Given the description of an element on the screen output the (x, y) to click on. 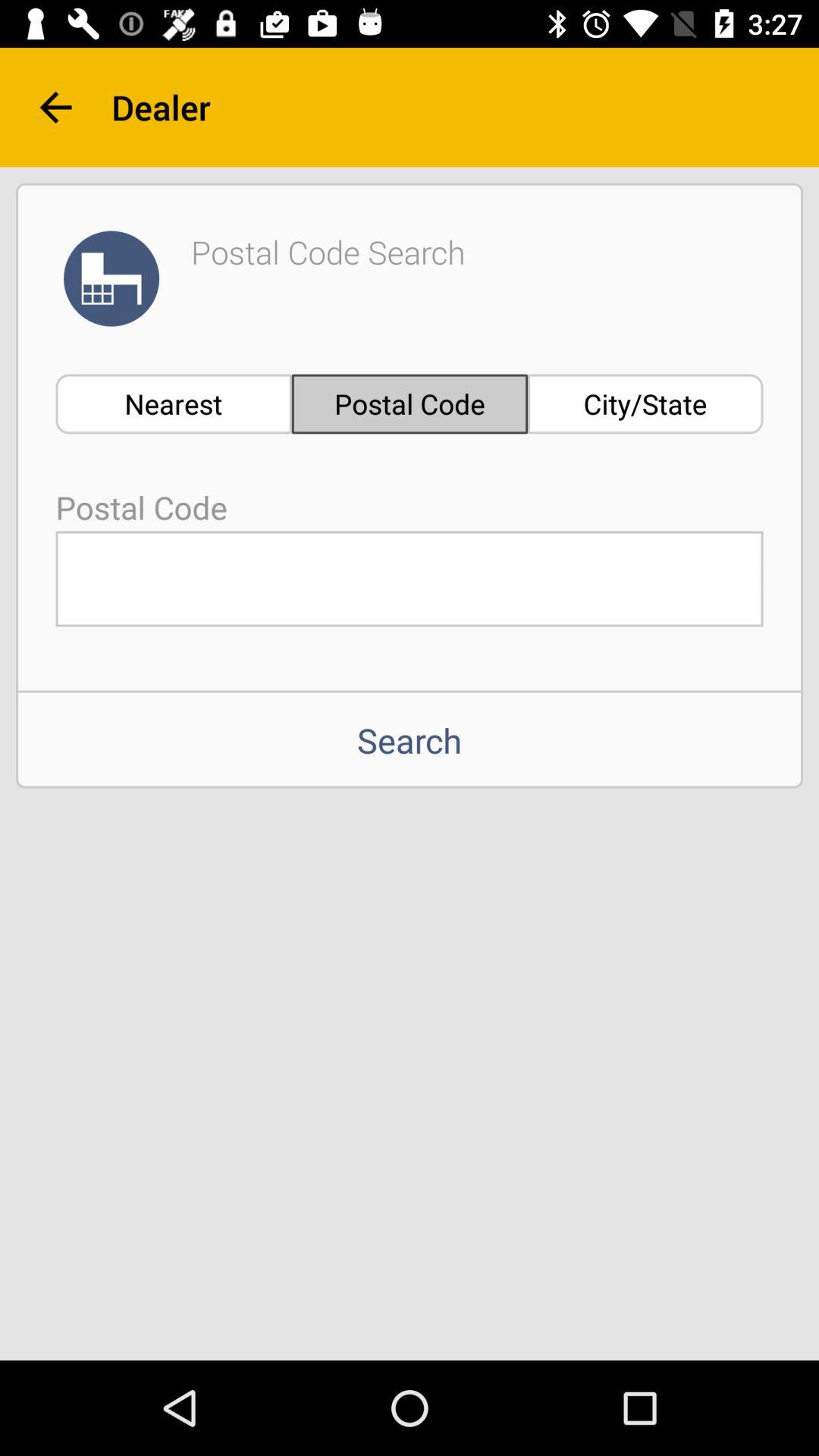
tap icon at the top right corner (645, 403)
